Given the description of an element on the screen output the (x, y) to click on. 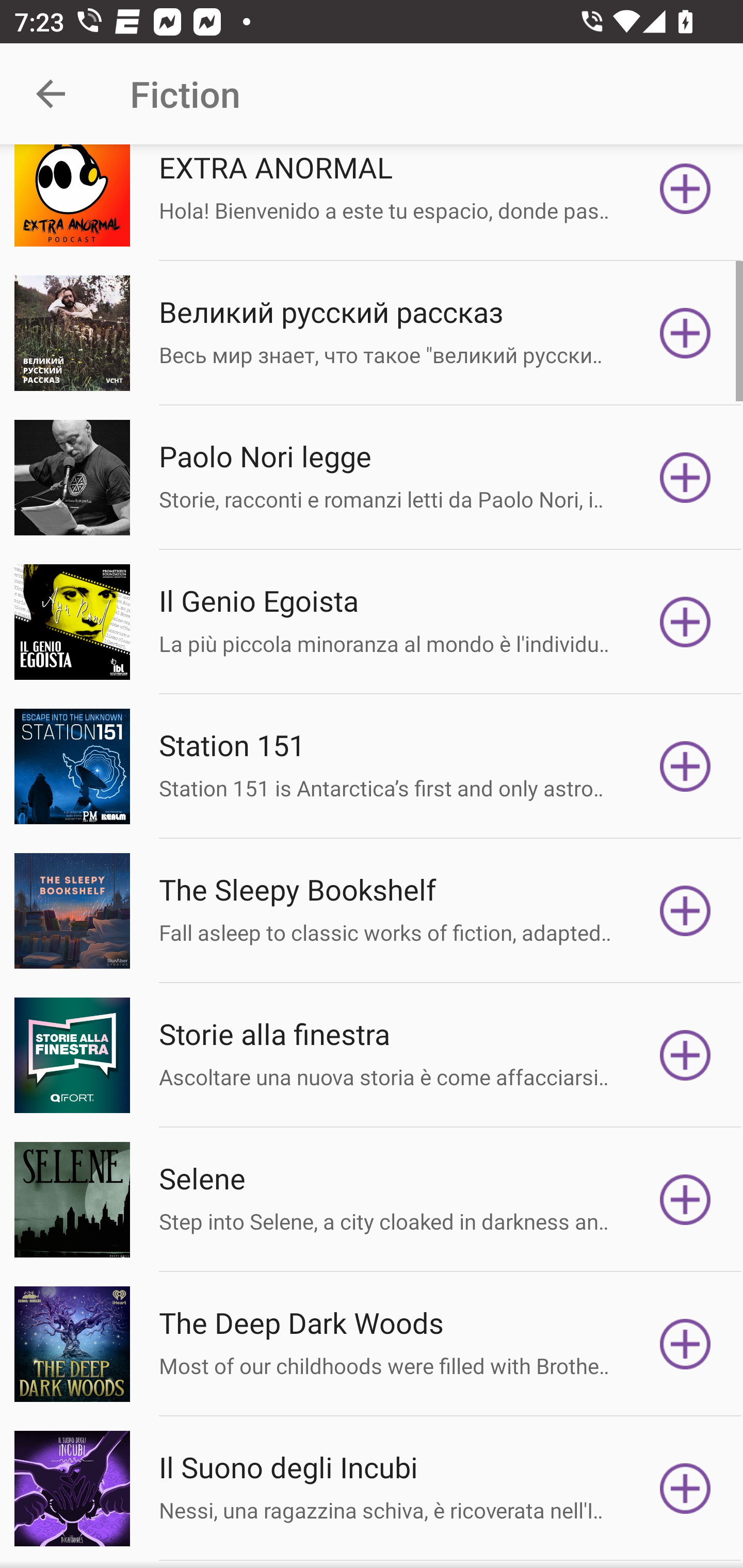
Navigate up (50, 93)
Subscribe (685, 195)
Subscribe (685, 332)
Subscribe (685, 477)
Subscribe (685, 622)
Subscribe (685, 766)
Subscribe (685, 910)
Subscribe (685, 1055)
Subscribe (685, 1199)
Subscribe (685, 1343)
Subscribe (685, 1488)
